Given the description of an element on the screen output the (x, y) to click on. 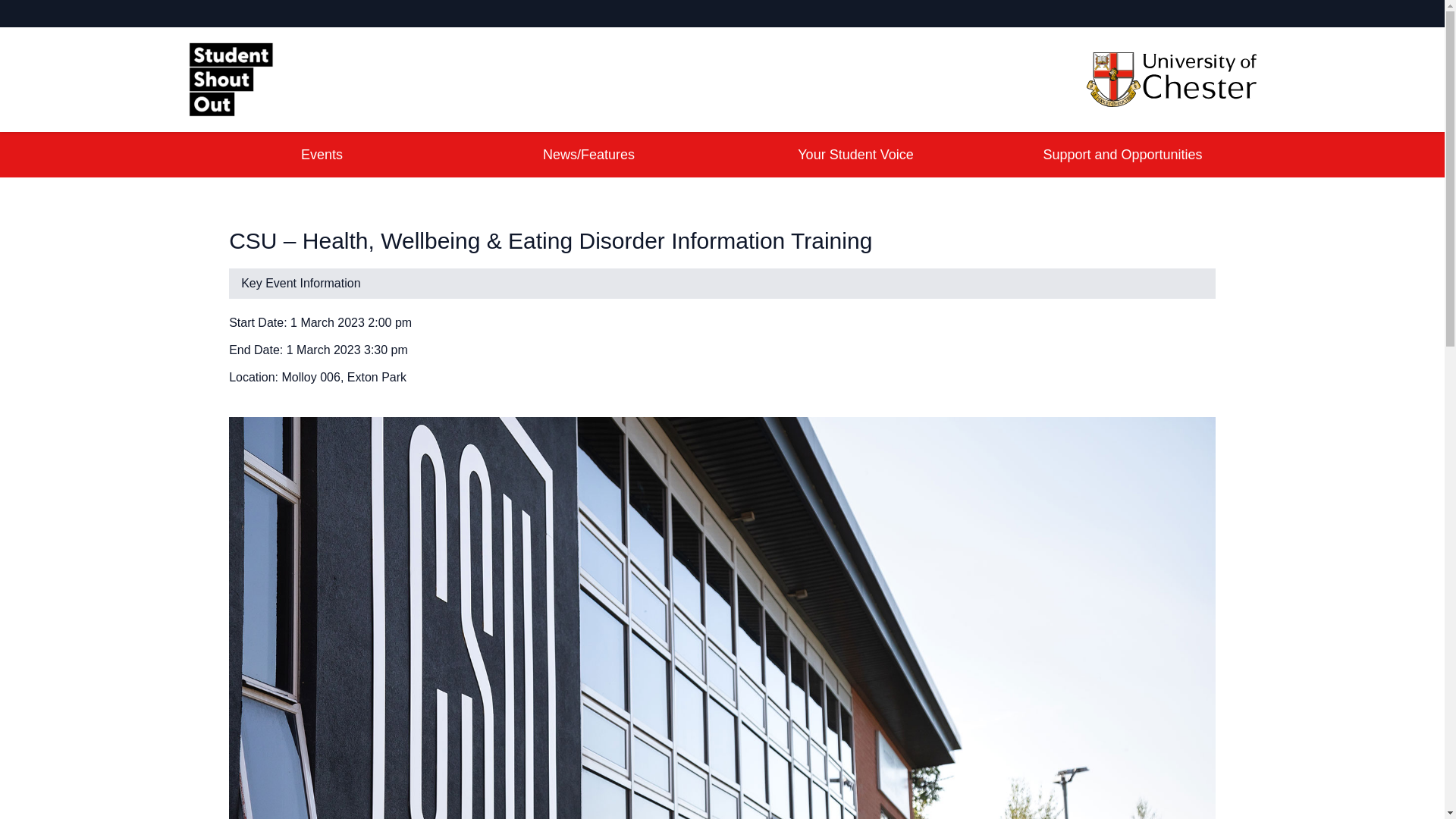
Your Student Voice (855, 154)
Events (320, 154)
Support and Opportunities (1121, 154)
